Given the description of an element on the screen output the (x, y) to click on. 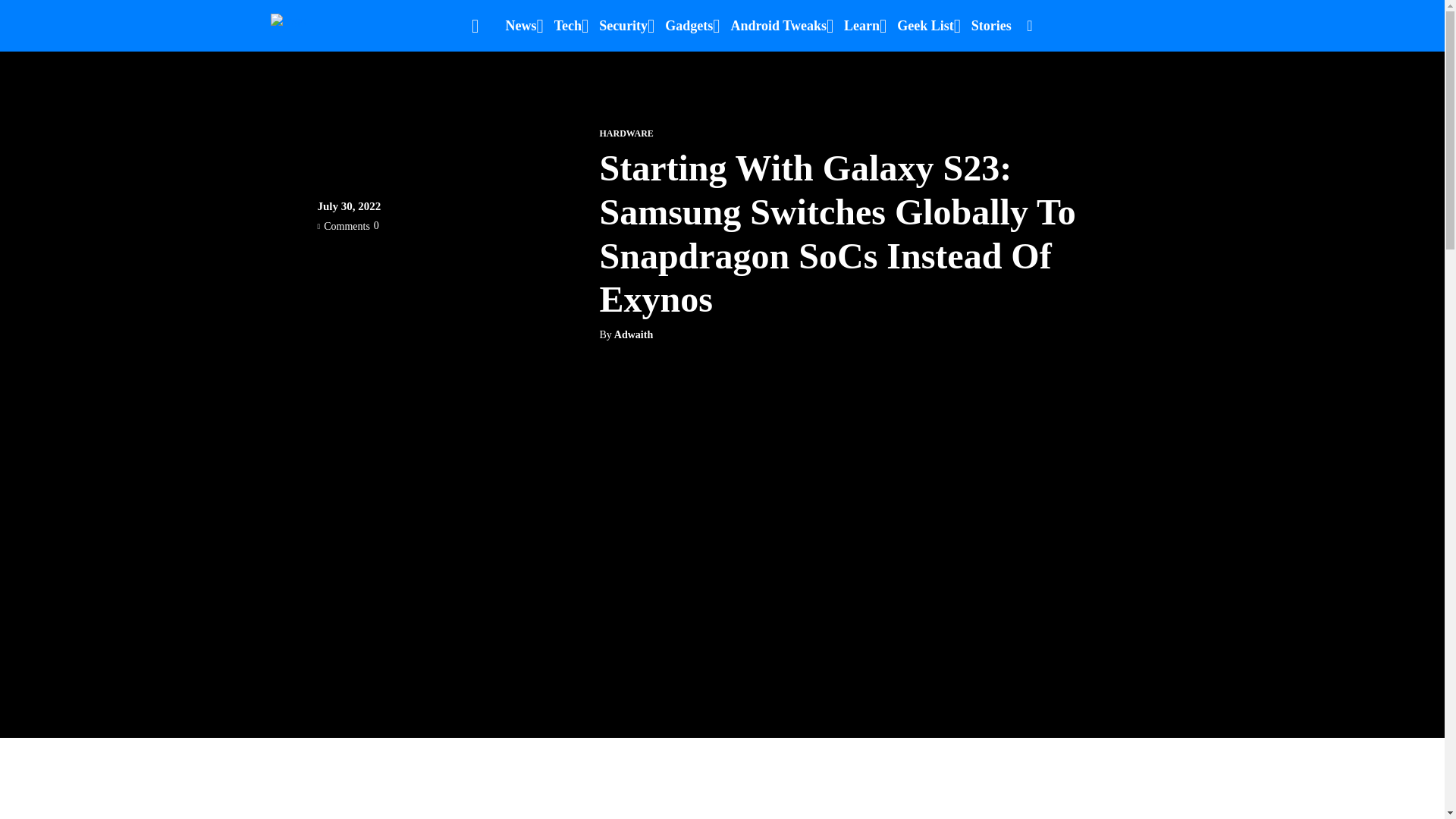
Gadgets (689, 25)
HARDWARE (625, 132)
Security (622, 25)
Adwaith (633, 335)
Android Tweaks (778, 25)
Geek List (924, 25)
Stories (991, 25)
Comments0 (347, 225)
Learn (861, 25)
